Given the description of an element on the screen output the (x, y) to click on. 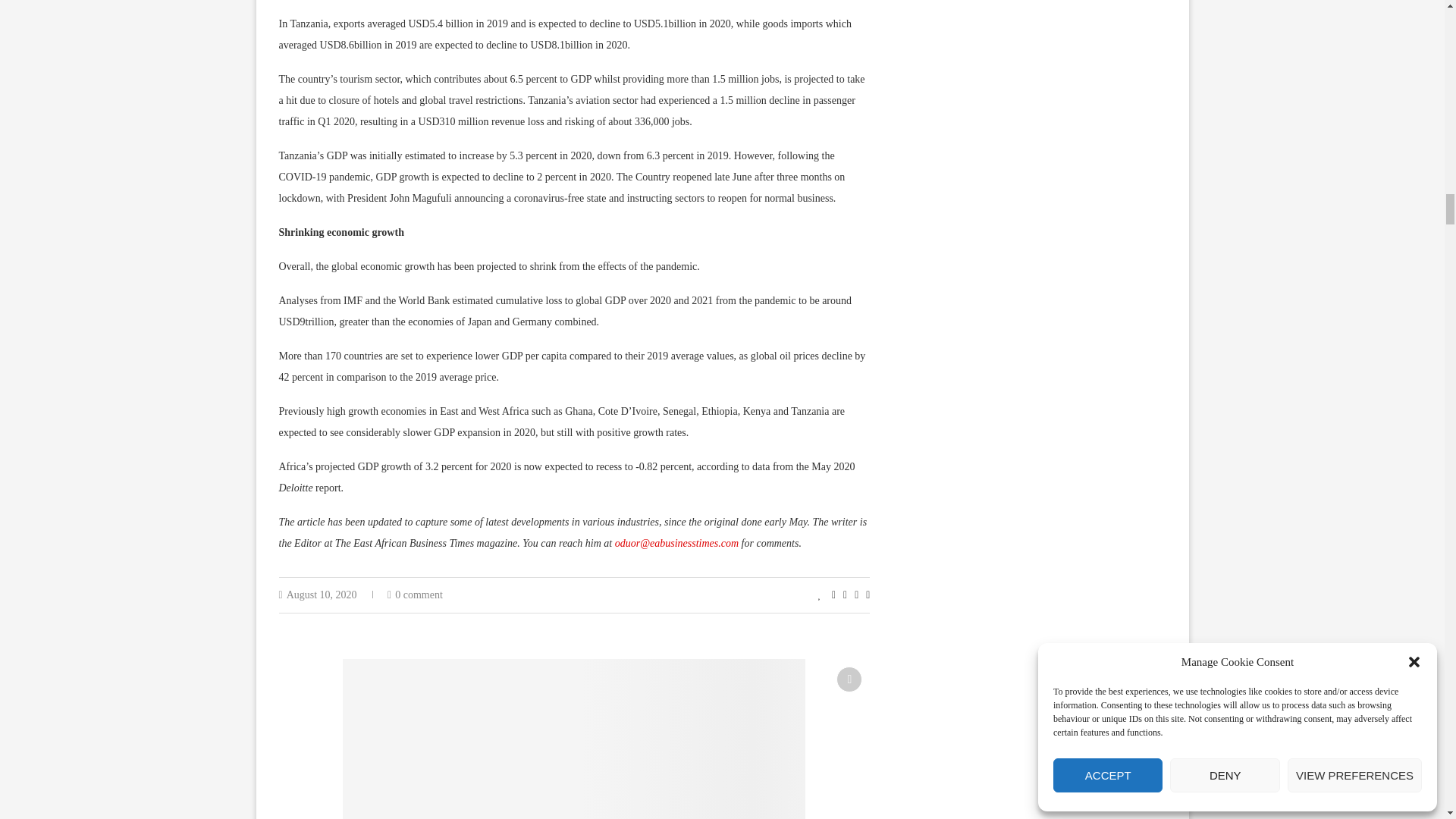
Liza Onyango-Abuje, co-founder and secretary, Kivuli (573, 739)
